Given the description of an element on the screen output the (x, y) to click on. 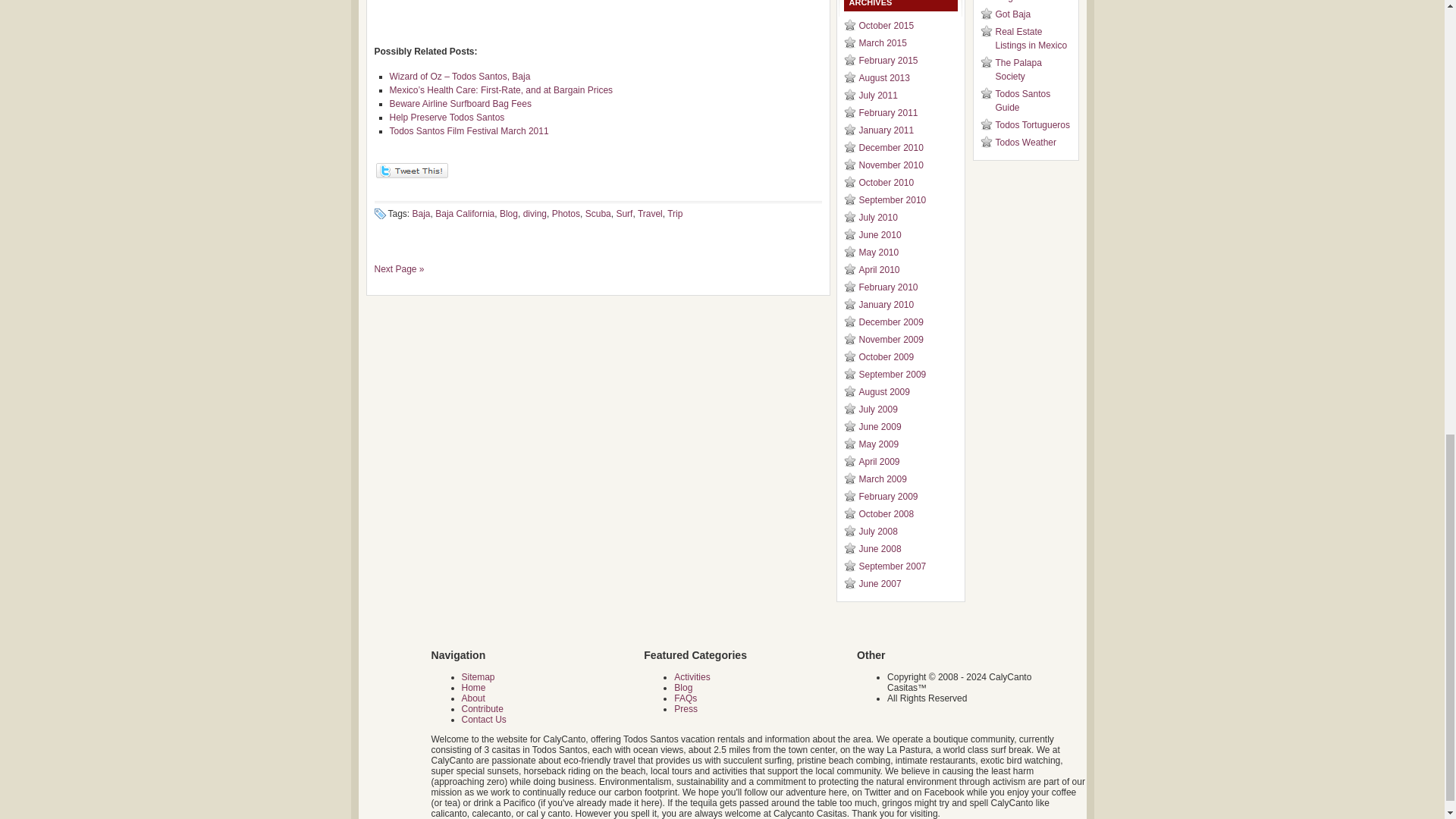
Post to Twitter (411, 174)
